Given the description of an element on the screen output the (x, y) to click on. 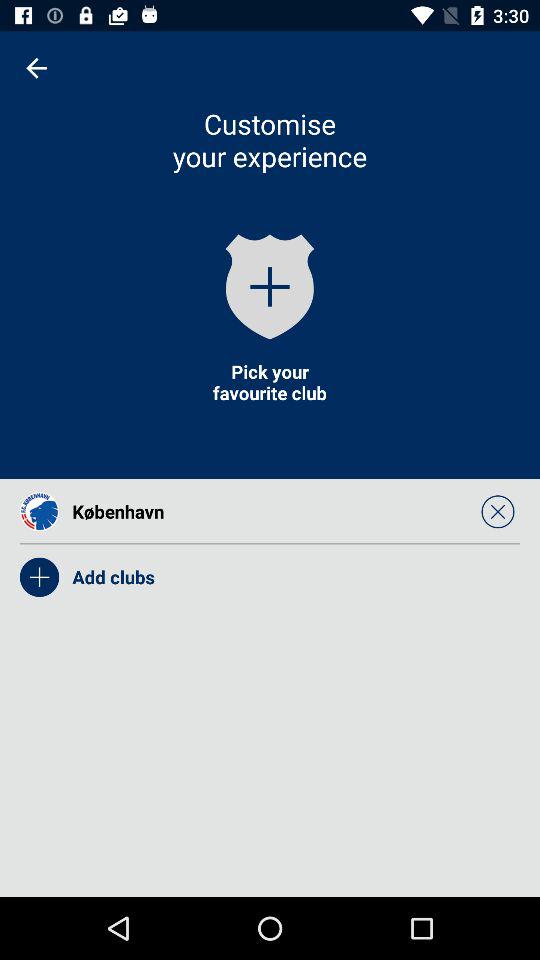
go back (36, 68)
